Given the description of an element on the screen output the (x, y) to click on. 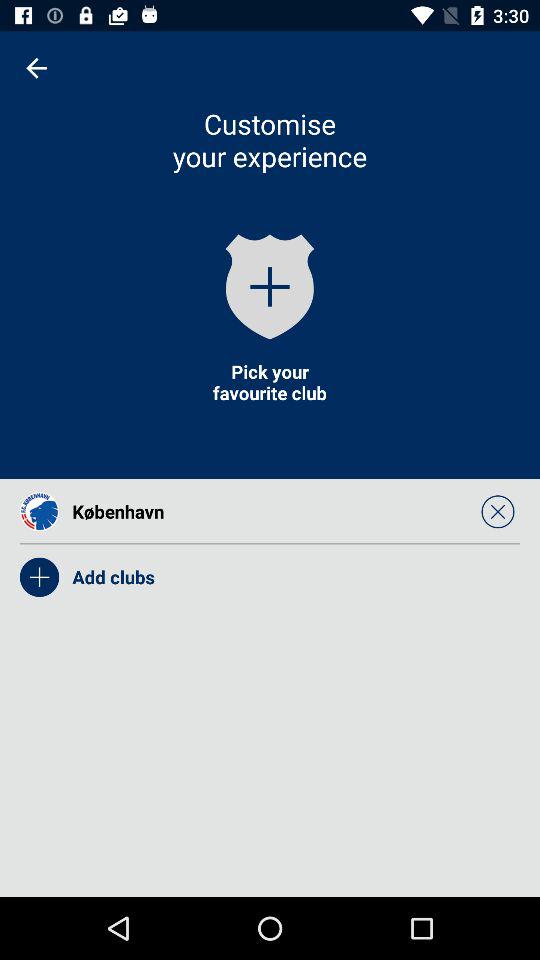
go back (36, 68)
